Given the description of an element on the screen output the (x, y) to click on. 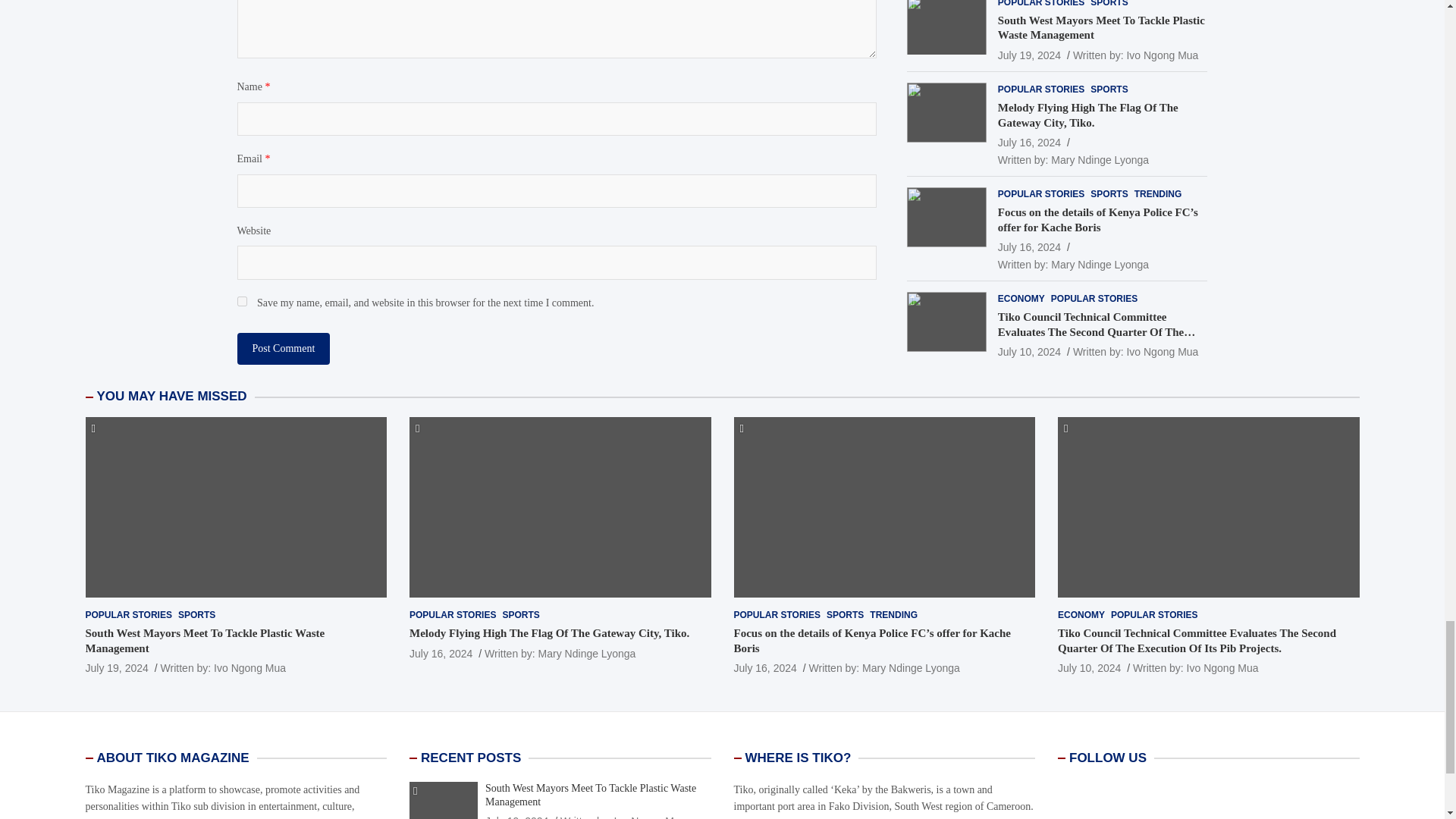
Post Comment (282, 348)
yes (240, 301)
